Given the description of an element on the screen output the (x, y) to click on. 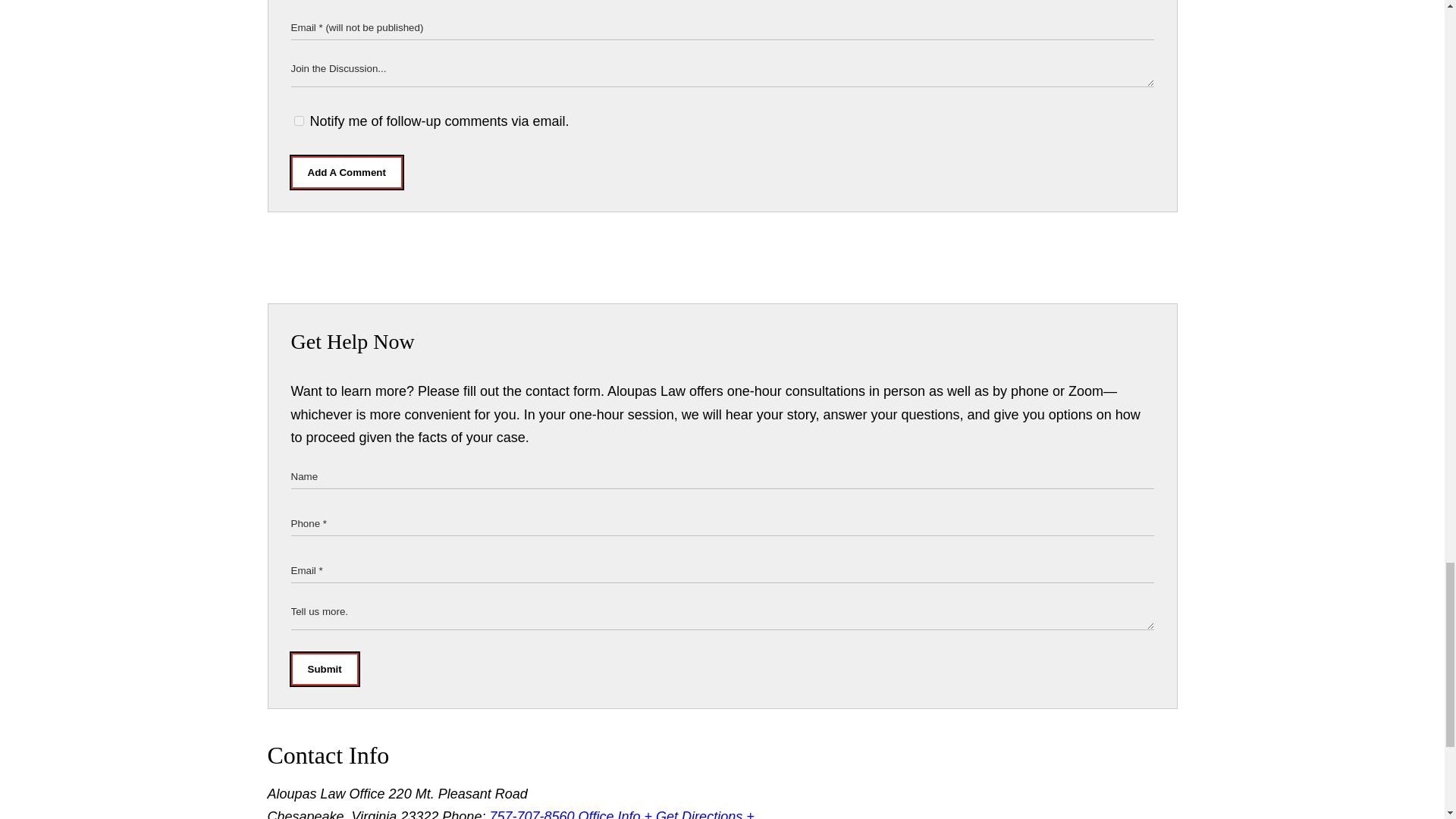
Add A Comment (347, 172)
757-707-8560 (531, 814)
1 (299, 121)
Submit (324, 668)
